Given the description of an element on the screen output the (x, y) to click on. 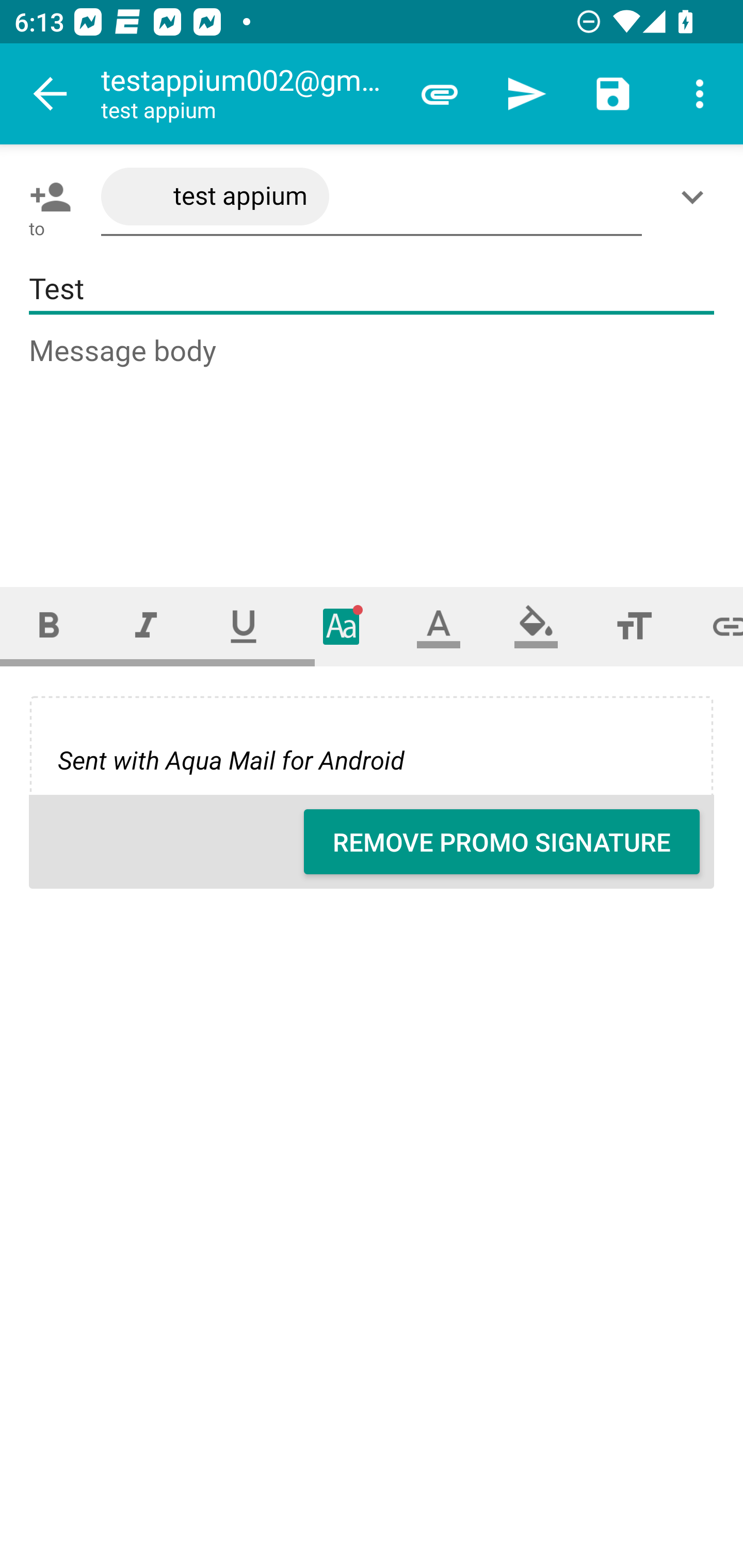
Navigate up (50, 93)
testappium002@gmail.com test appium (248, 93)
Attach (439, 93)
Send (525, 93)
Save (612, 93)
More options (699, 93)
test appium <testappium002@gmail.com>,  (371, 197)
Pick contact: To (46, 196)
Show/Add CC/BCC (696, 196)
Test (371, 288)
Message body (372, 442)
Bold (48, 626)
Italic (145, 626)
Underline (243, 626)
Typeface (font) (341, 626)
Text color (438, 626)
Fill color (536, 626)
Font size (633, 626)
REMOVE PROMO SIGNATURE (501, 841)
